Given the description of an element on the screen output the (x, y) to click on. 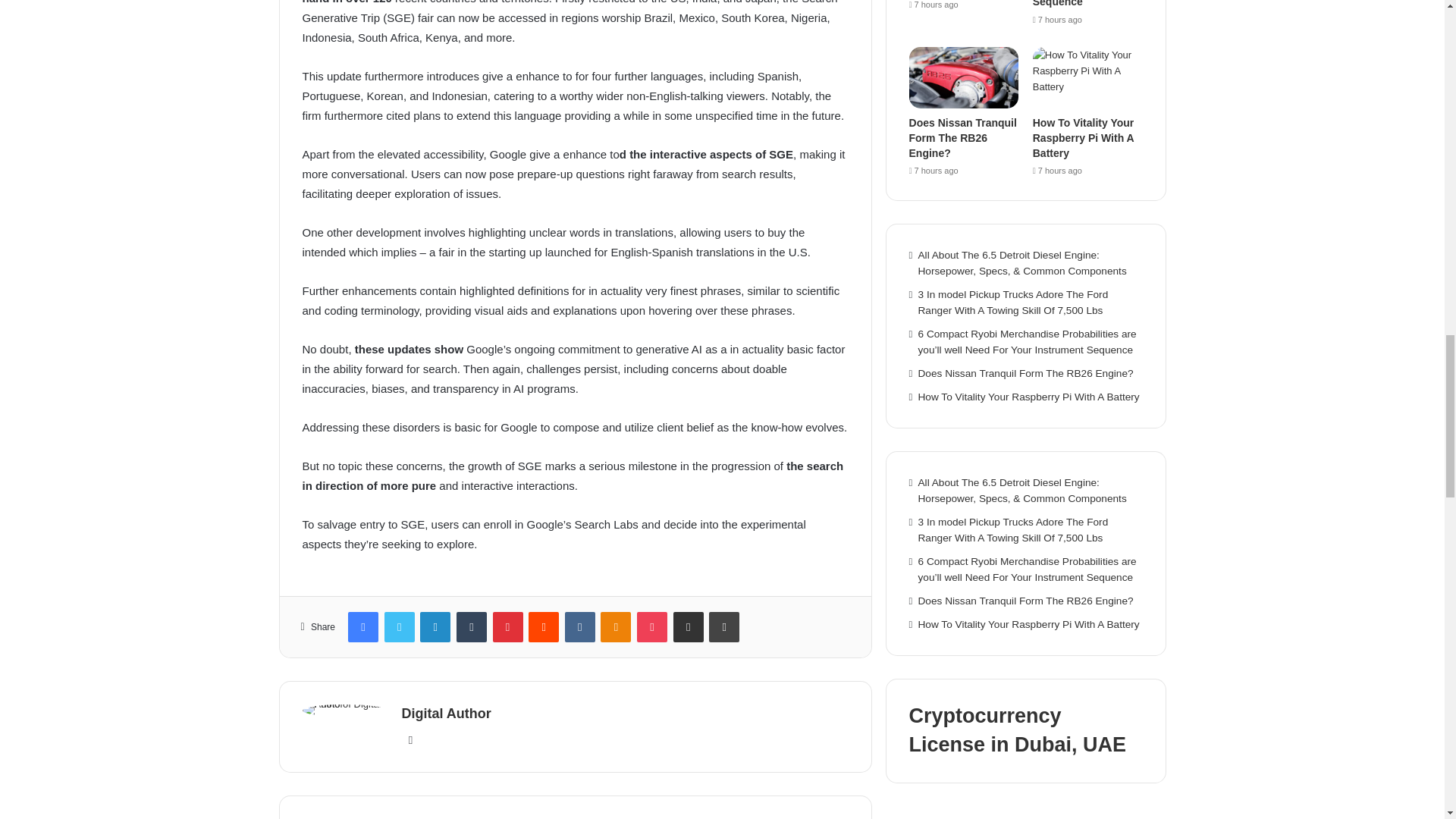
Twitter (399, 626)
Reddit (543, 626)
VKontakte (579, 626)
Tumblr (471, 626)
Twitter (399, 626)
Pinterest (507, 626)
LinkedIn (434, 626)
Facebook (362, 626)
Facebook (362, 626)
LinkedIn (434, 626)
